Given the description of an element on the screen output the (x, y) to click on. 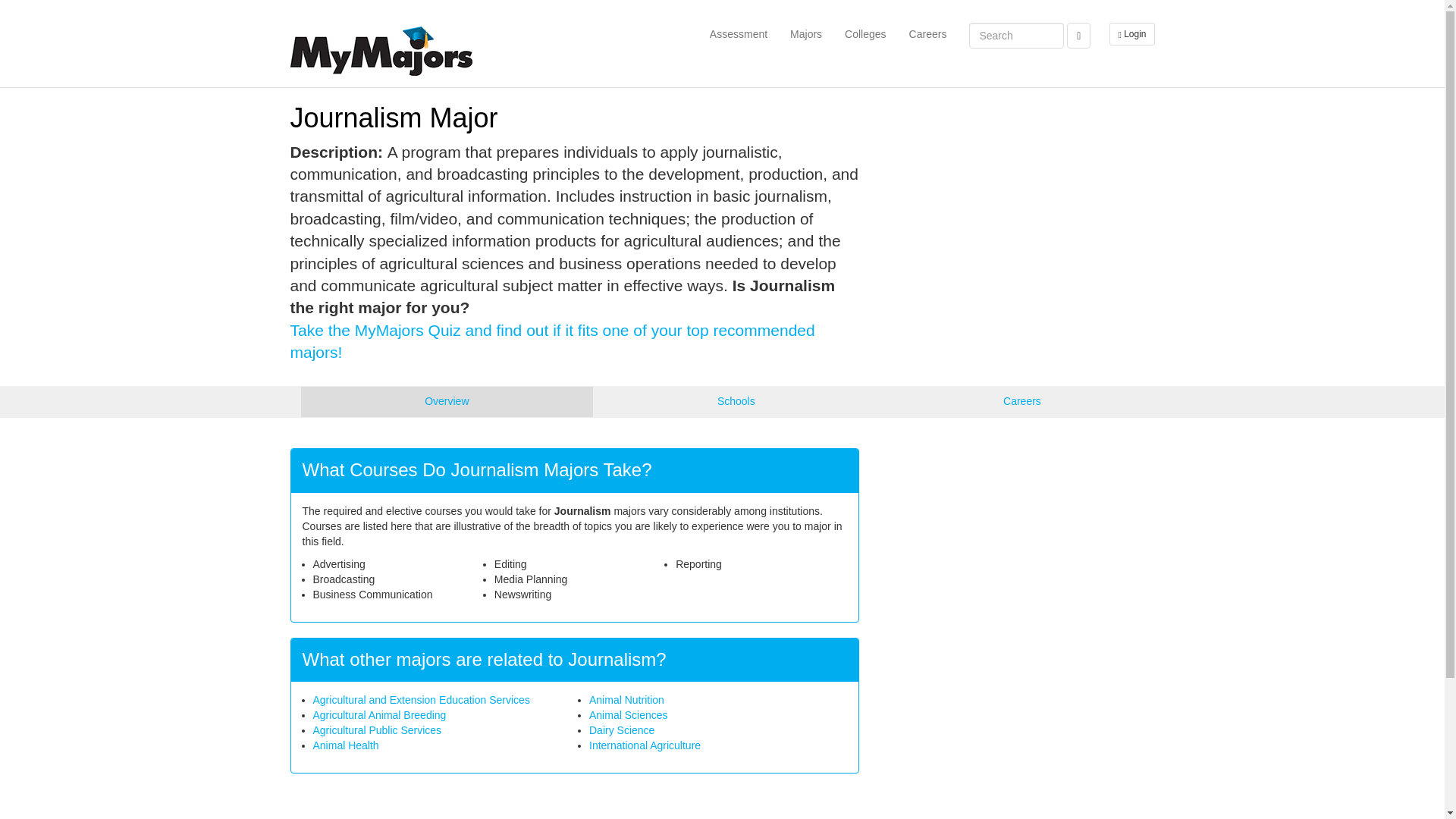
Majors (805, 34)
Login (1128, 34)
Schools (735, 401)
skip to content (1125, 5)
International Agriculture (644, 745)
Overview (445, 401)
Agricultural Public Services (377, 729)
Careers (928, 34)
Dairy Science (621, 729)
